Given the description of an element on the screen output the (x, y) to click on. 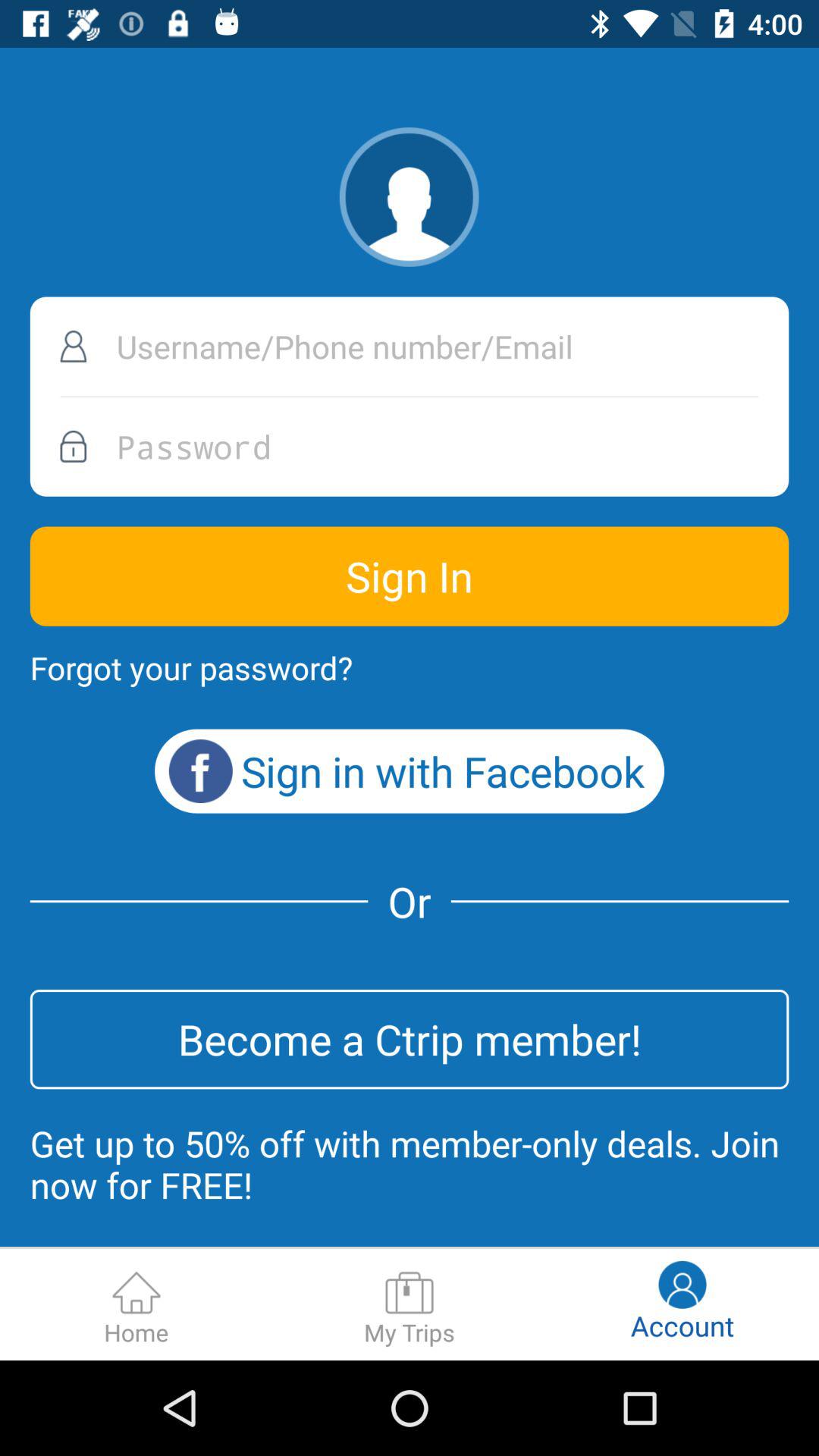
launch the icon below the sign in icon (191, 667)
